Given the description of an element on the screen output the (x, y) to click on. 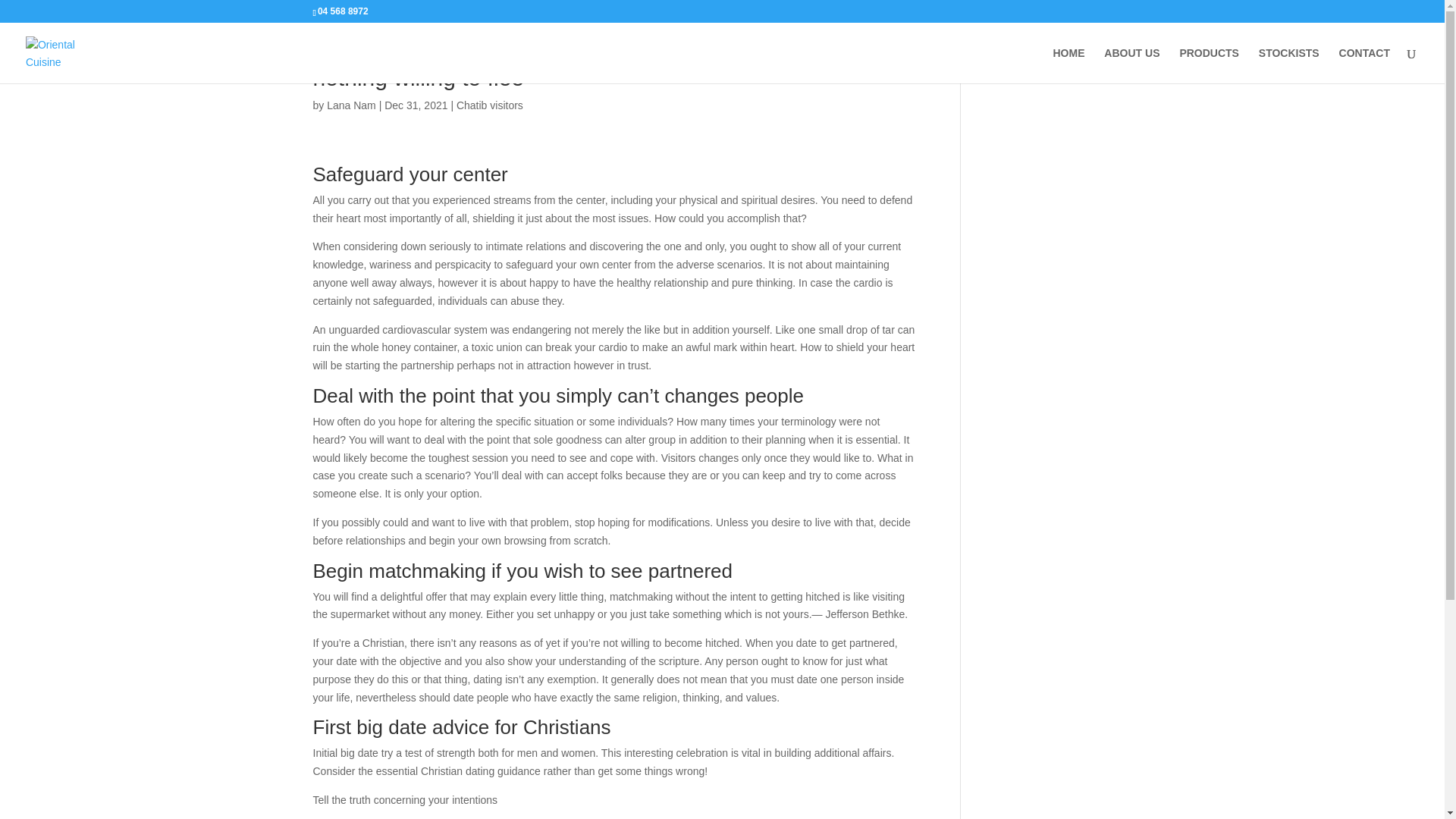
ABOUT US (1130, 65)
Search (1106, 59)
CONTACT (1364, 65)
Posts by Lana Nam (350, 105)
PRODUCTS (1209, 65)
Search (1106, 59)
Lana Nam (350, 105)
STOCKISTS (1289, 65)
Chatib visitors (489, 105)
HOME (1068, 65)
